Given the description of an element on the screen output the (x, y) to click on. 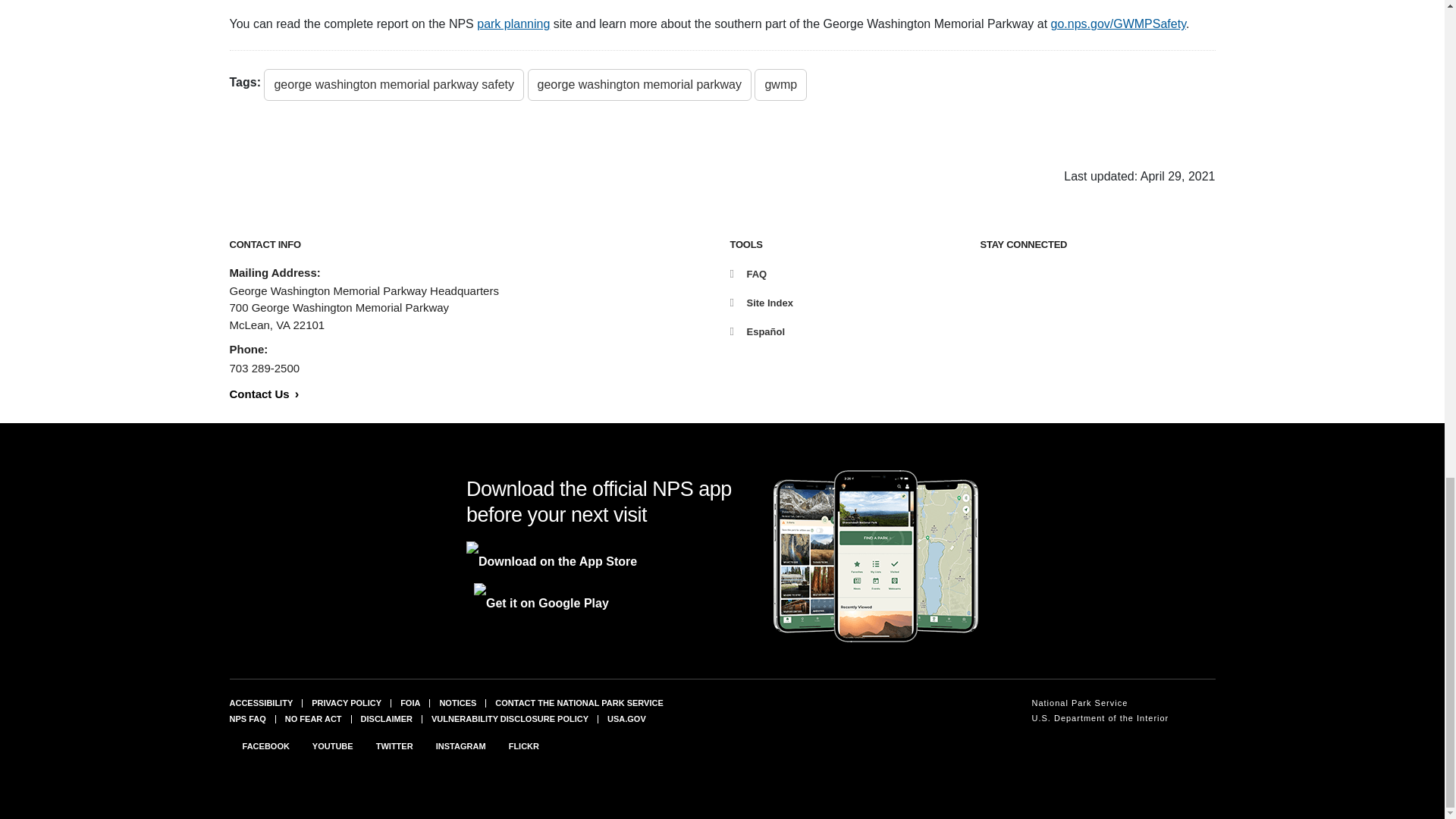
george washington memorial parkway safety (393, 84)
Site Index (760, 302)
Contact Us (263, 393)
park planning (513, 23)
National Park Service frequently asked questions (246, 718)
gwmp (780, 84)
george washington memorial parkway (639, 84)
FAQ (748, 274)
